Given the description of an element on the screen output the (x, y) to click on. 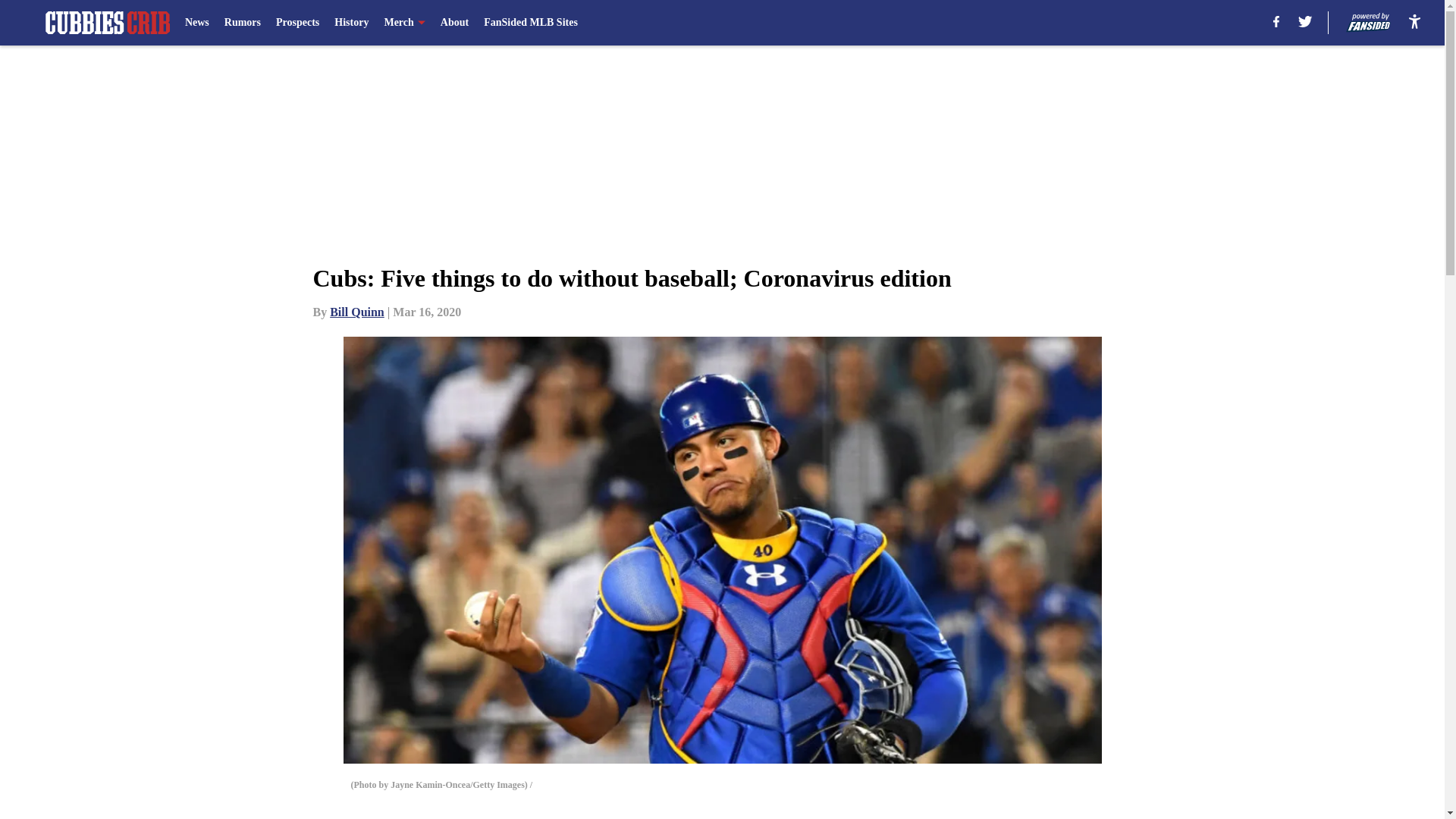
Prospects (297, 22)
About (454, 22)
Bill Quinn (357, 311)
Rumors (242, 22)
History (351, 22)
News (196, 22)
FanSided MLB Sites (530, 22)
